Given the description of an element on the screen output the (x, y) to click on. 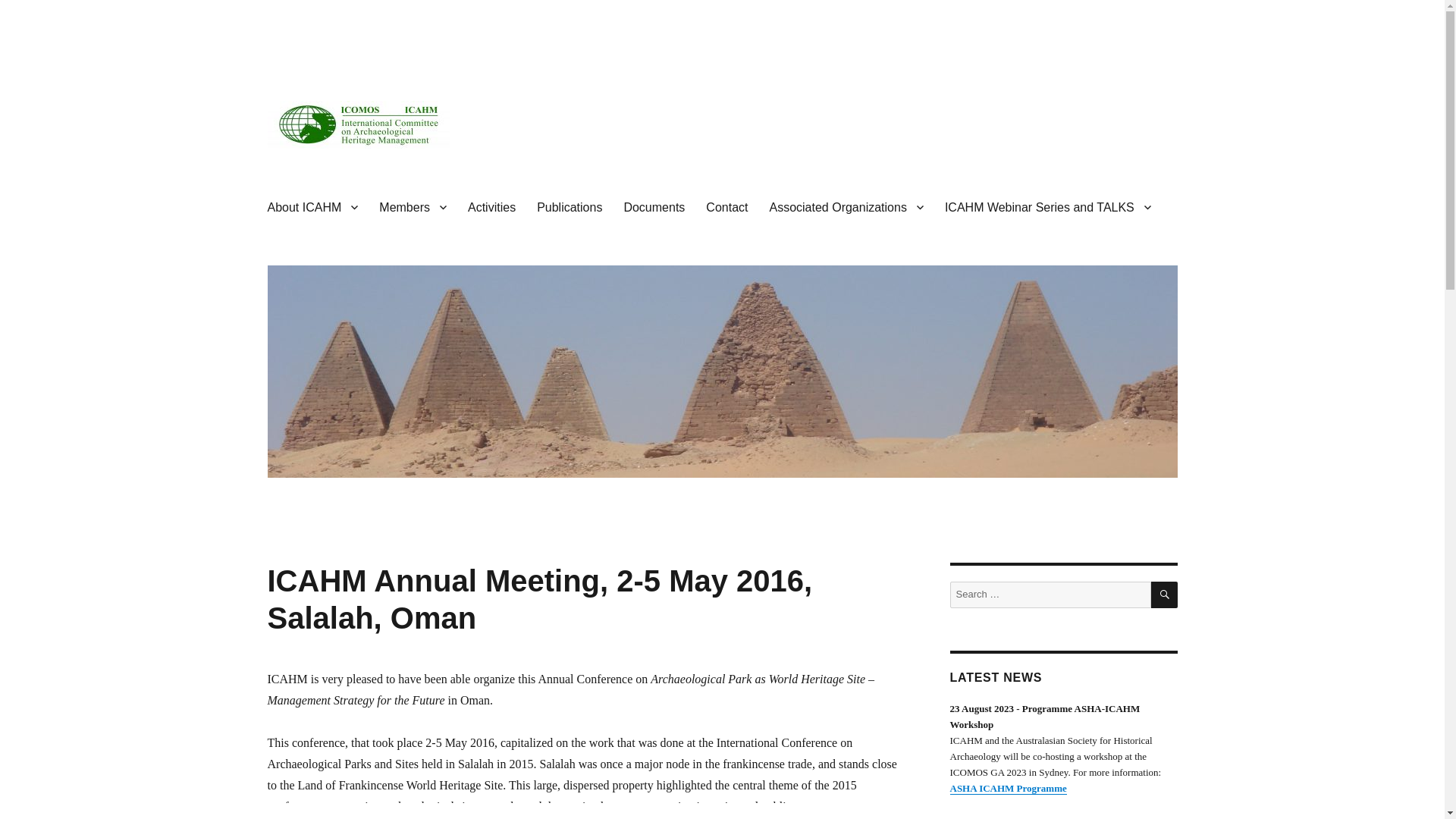
Activities (491, 206)
Publications (568, 206)
Associated Organizations (845, 206)
ICAHM Webinar Series and TALKS (1047, 206)
Members (412, 206)
About ICAHM (312, 206)
Documents (653, 206)
Contact (726, 206)
